Given the description of an element on the screen output the (x, y) to click on. 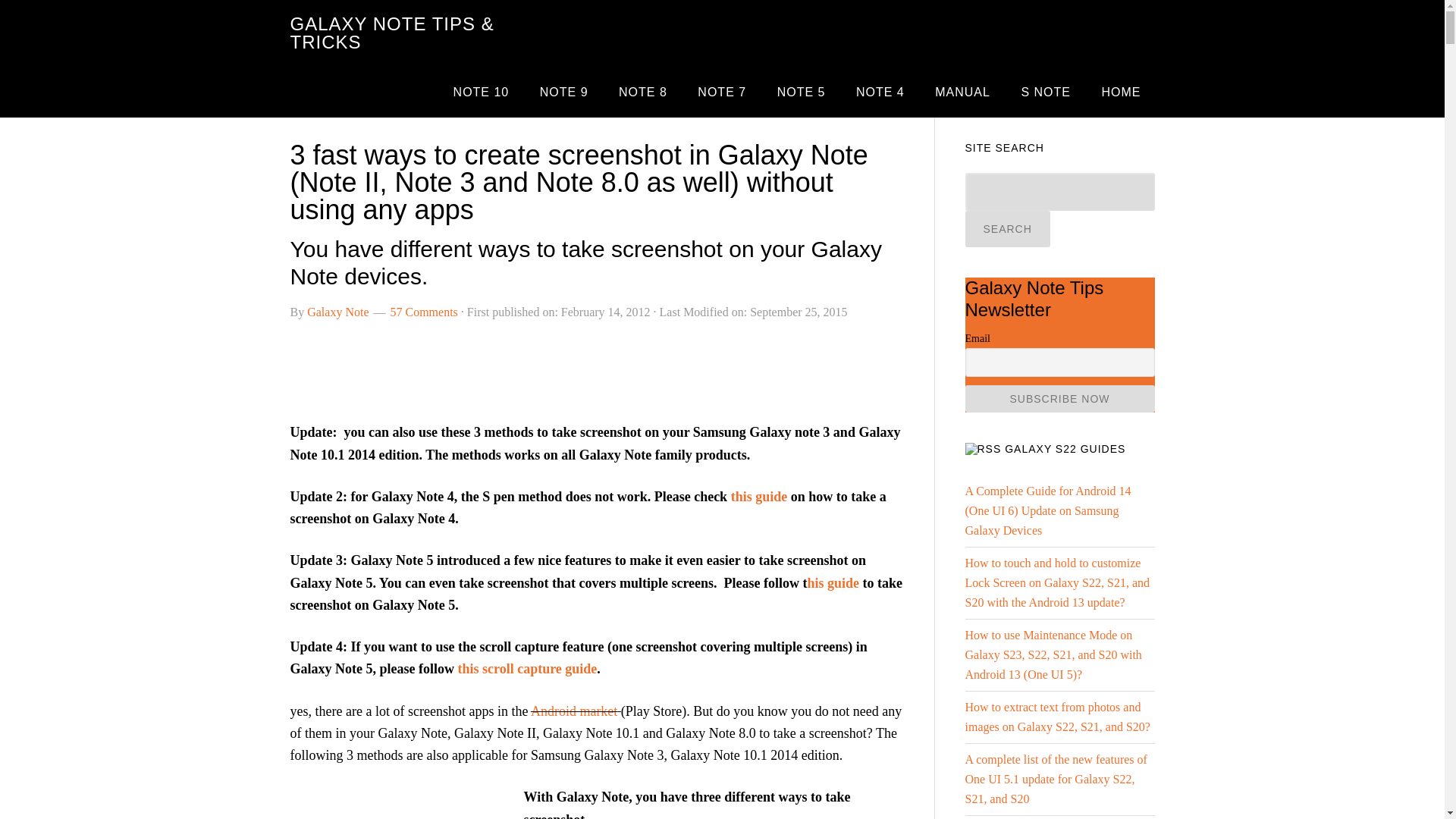
Subscribe Now (1058, 398)
NOTE 9 (563, 91)
NOTE 10 (480, 91)
NOTE 8 (643, 91)
Android market (574, 711)
NOTE 7 (722, 91)
How to take a screenshot on Galaxy Note 4? (758, 496)
Search (1006, 228)
How to use scroll capture in Galaxy Note 5? (526, 668)
